Given the description of an element on the screen output the (x, y) to click on. 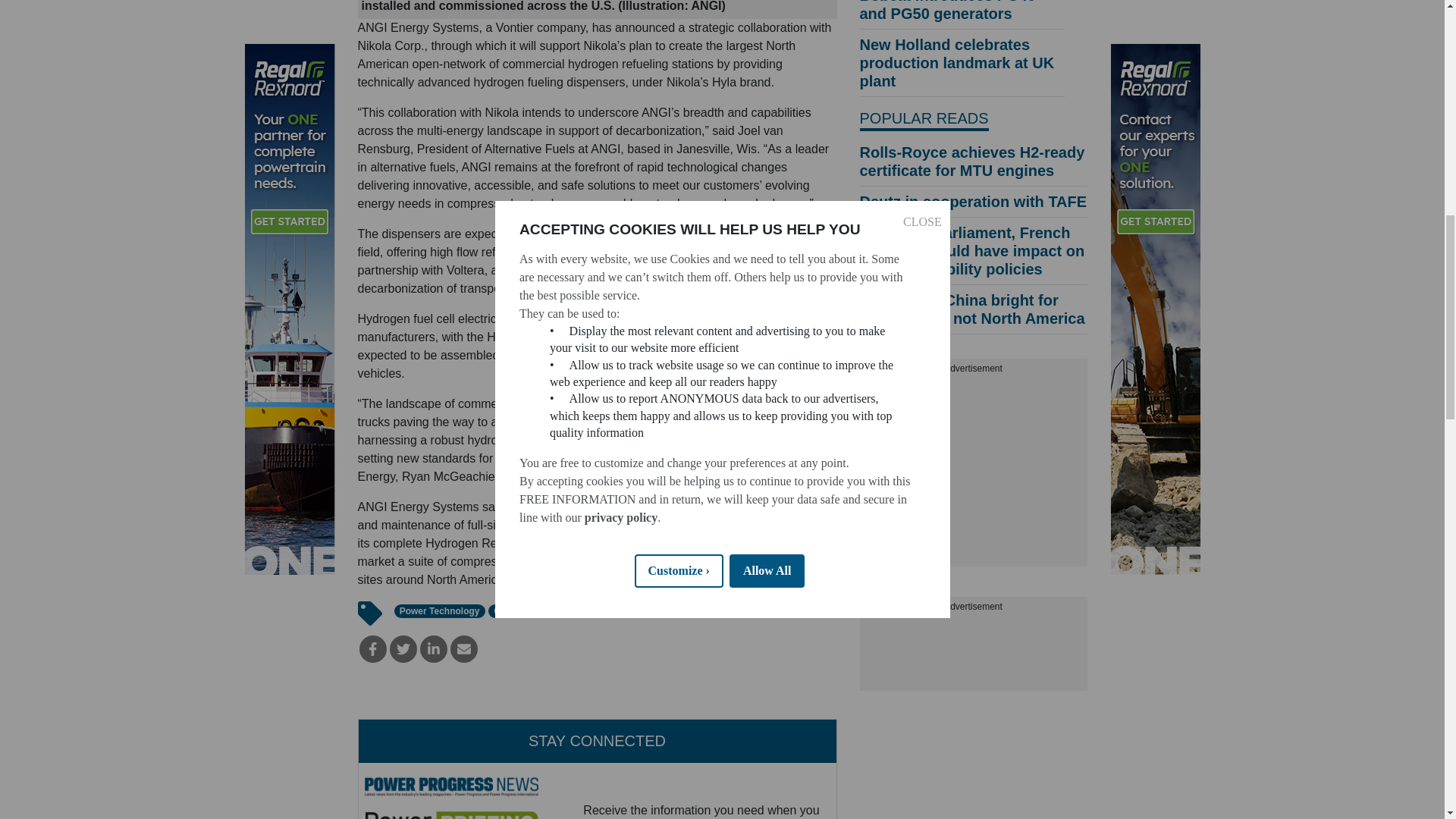
Allow All (767, 17)
Share this page on Facebook (373, 648)
Share this page on Linkedin (433, 648)
3rd party ad content (973, 653)
Share this page on Twitter (403, 648)
Share this page via email (463, 648)
privacy policy (619, 39)
3rd party ad content (973, 471)
